Given the description of an element on the screen output the (x, y) to click on. 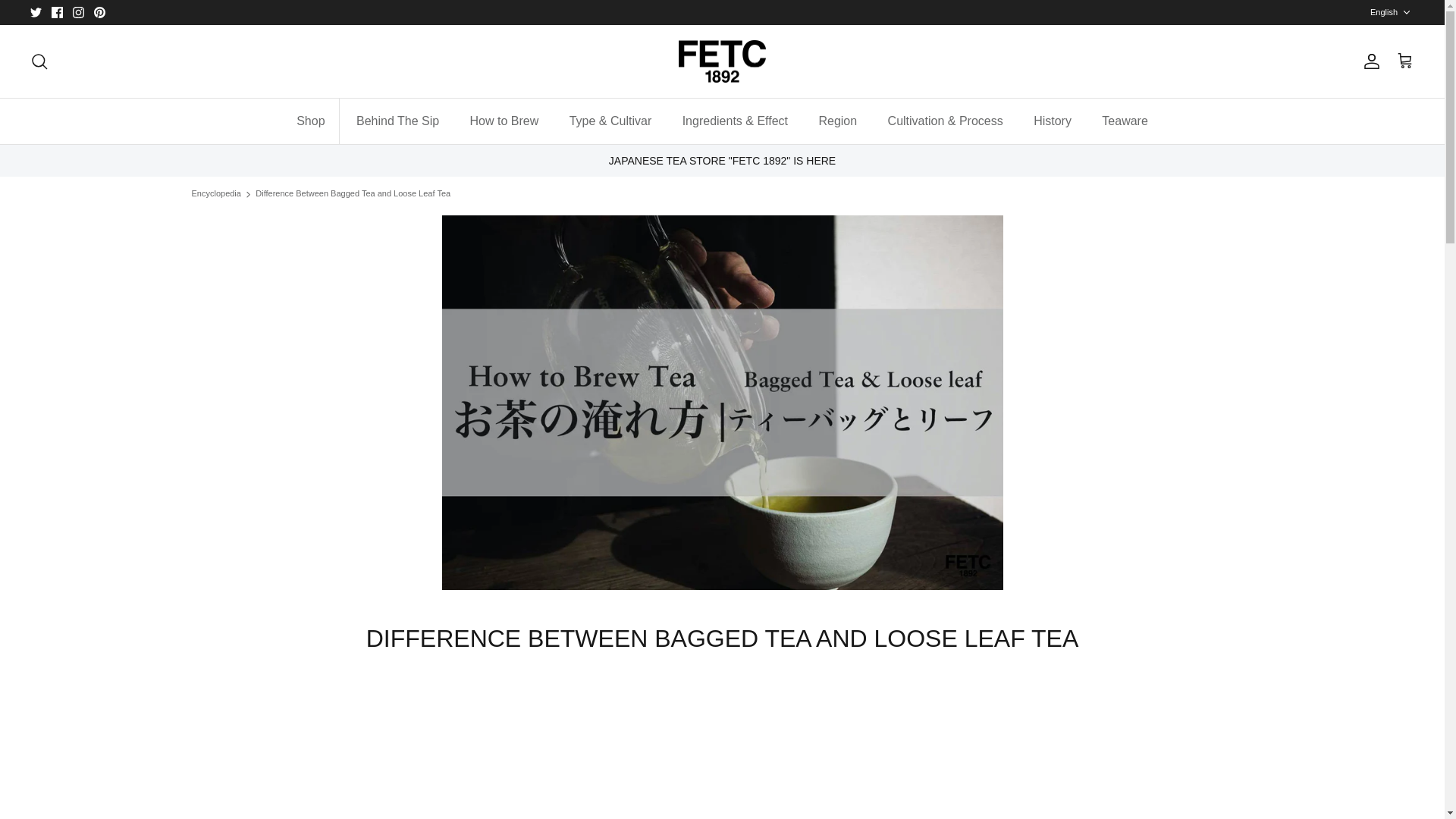
Account (1368, 61)
Instagram (78, 12)
Instagram (78, 12)
Behind The Sip (397, 121)
Shop (309, 121)
Search (39, 61)
Facebook (56, 12)
Pinterest (99, 12)
Facebook (56, 12)
Region (837, 121)
